Given the description of an element on the screen output the (x, y) to click on. 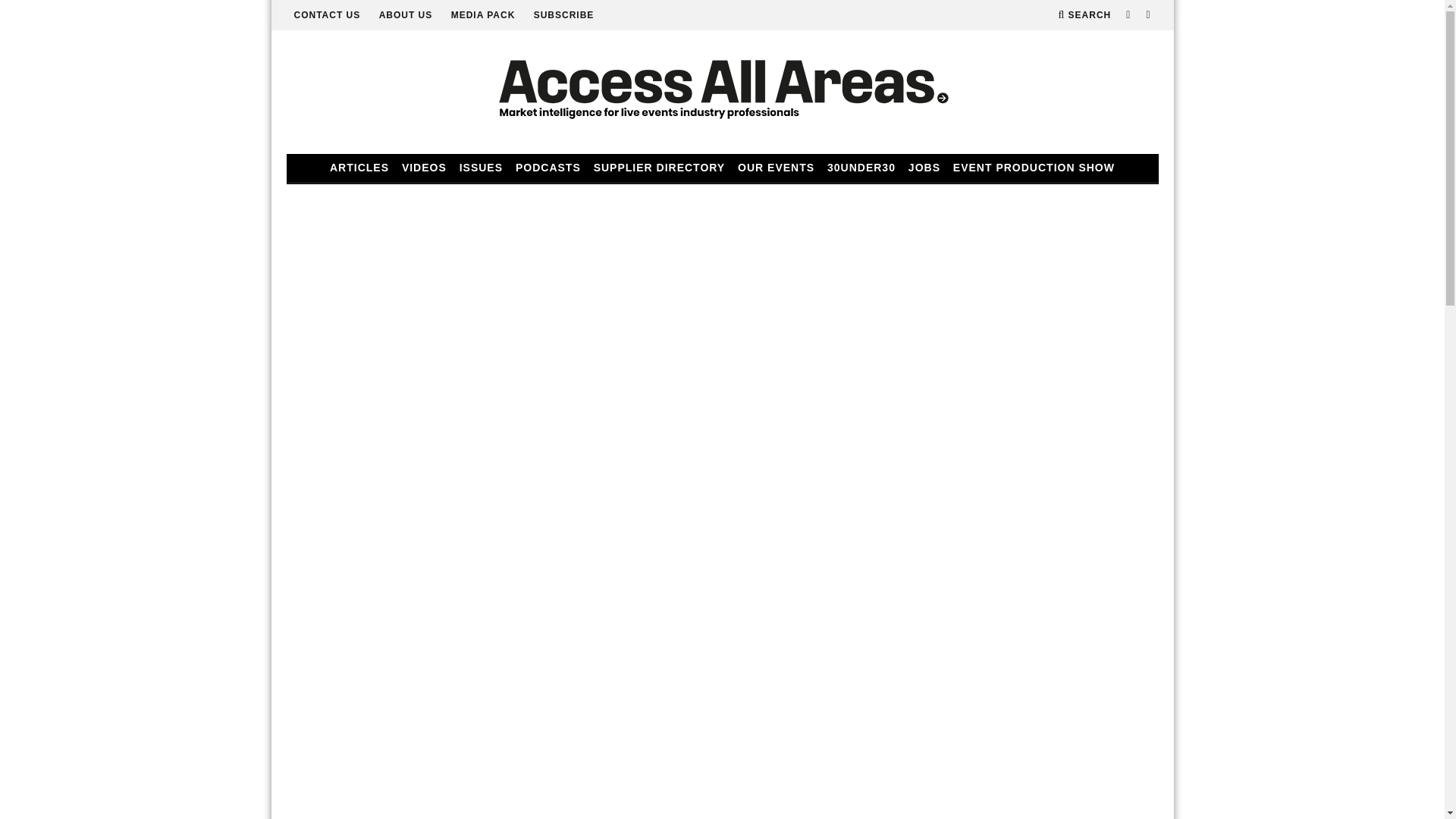
SUBSCRIBE (564, 15)
ABOUT US (405, 15)
ARTICLES (358, 167)
Log In (721, 413)
VIDEOS (424, 167)
SEARCH (1084, 15)
Search (1084, 15)
MEDIA PACK (483, 15)
CONTACT US (327, 15)
